Given the description of an element on the screen output the (x, y) to click on. 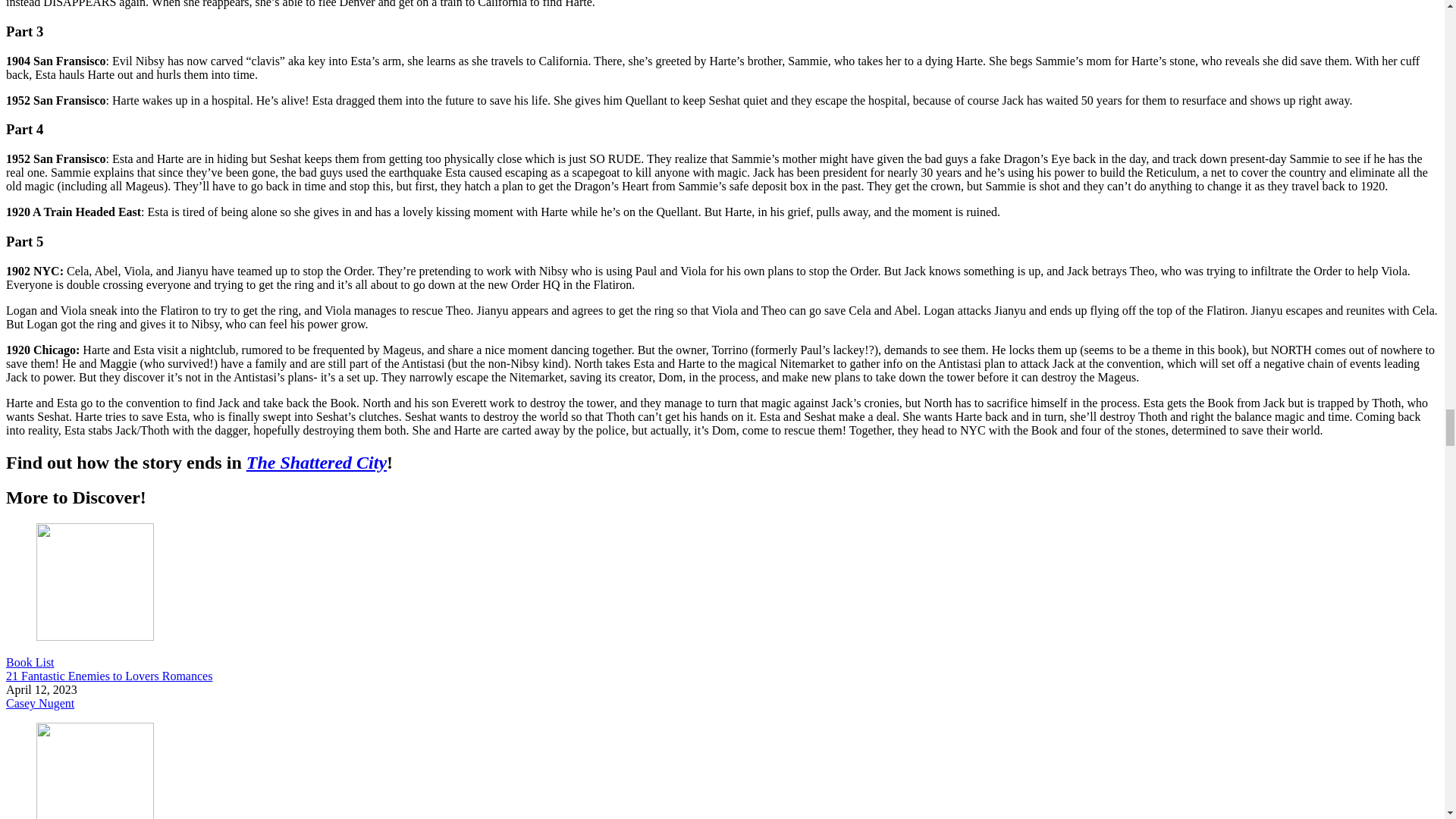
Posts by Casey Nugent (39, 703)
